Given the description of an element on the screen output the (x, y) to click on. 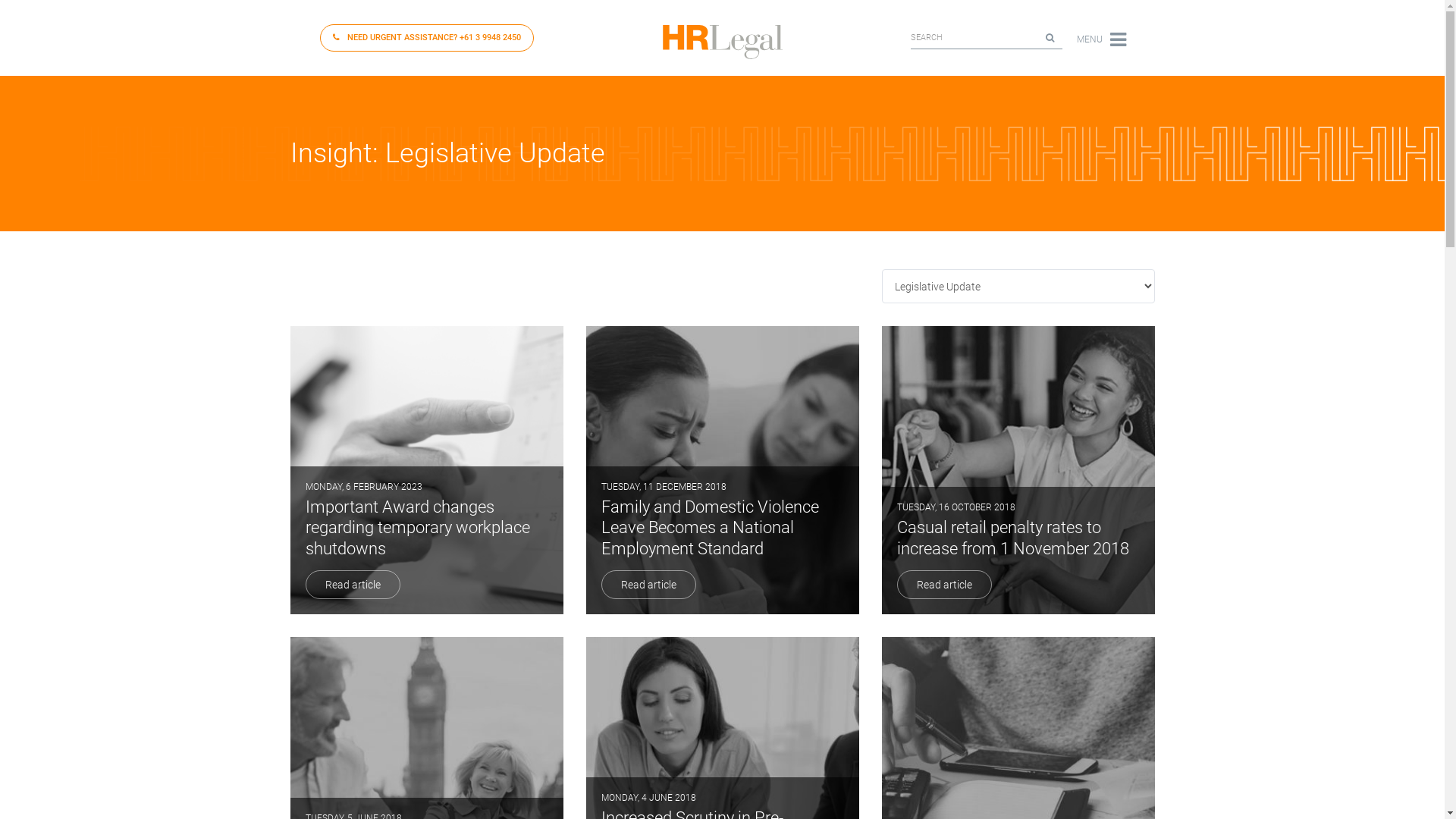
Read article Element type: text (943, 584)
Read article Element type: text (351, 584)
NEED URGENT ASSISTANCE? +61 3 9948 2450 Element type: text (426, 38)
Read article Element type: text (647, 584)
